Given the description of an element on the screen output the (x, y) to click on. 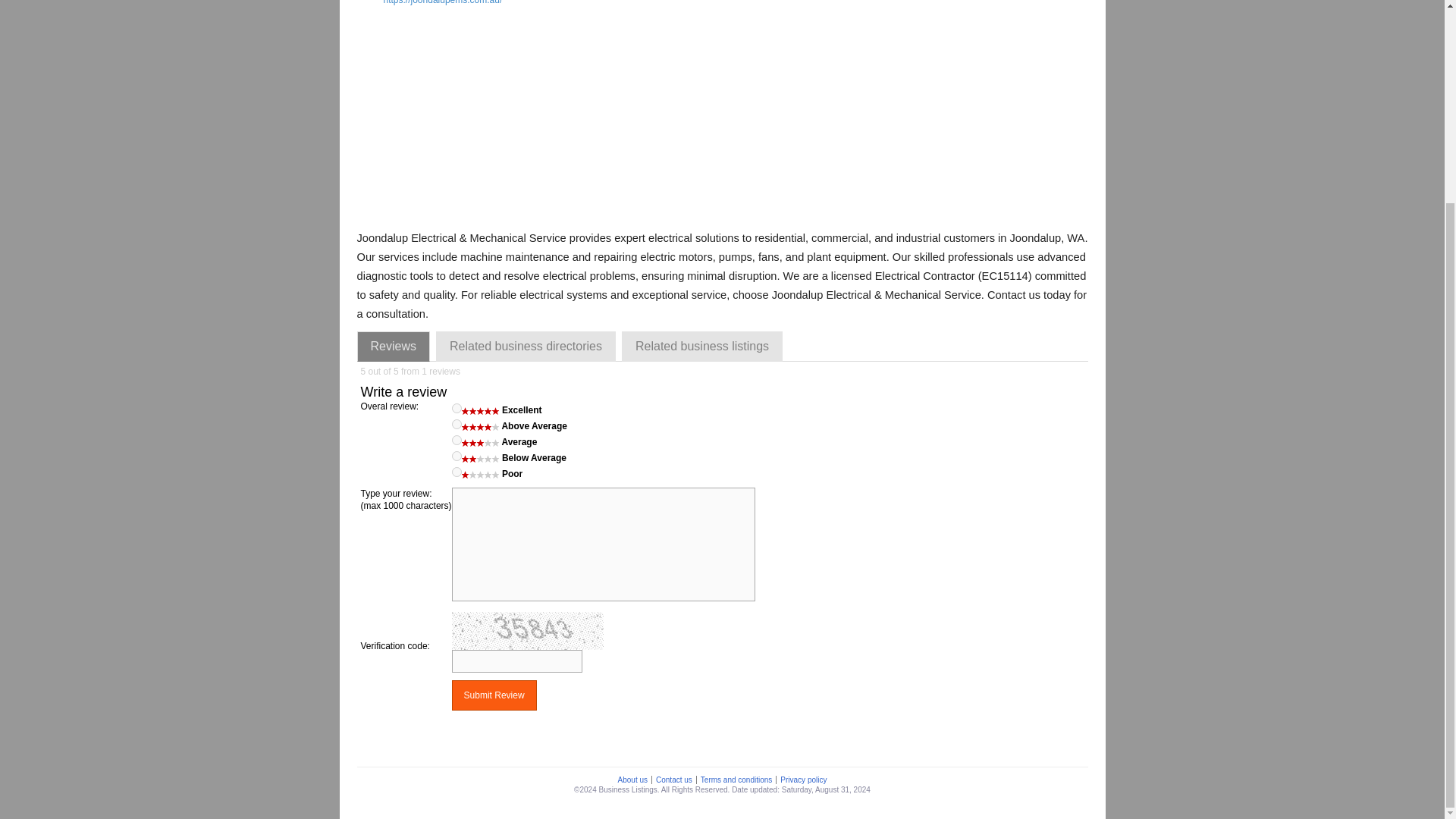
Related business directories (525, 346)
3 (456, 439)
About us (632, 779)
5 (456, 408)
Privacy policy (802, 779)
2 (456, 456)
Submit Review (494, 695)
Submit Review (494, 695)
Reviews (392, 346)
Terms and conditions (736, 779)
